Given the description of an element on the screen output the (x, y) to click on. 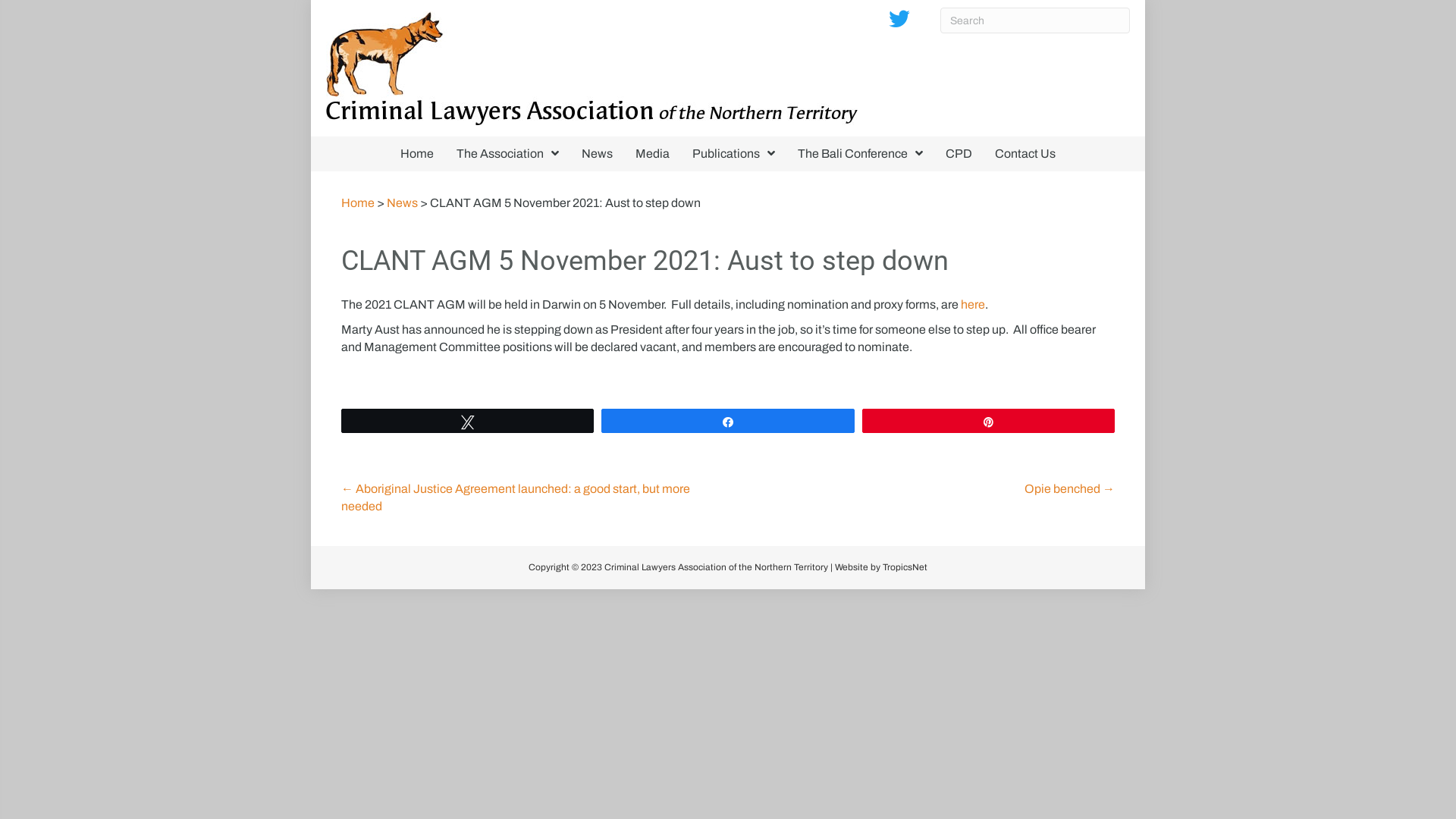
The Bali Conference Element type: text (860, 153)
Contact Us Element type: text (1024, 153)
Publications Element type: text (733, 153)
Media Element type: text (652, 153)
News Element type: text (401, 202)
here Element type: text (972, 304)
CPD Element type: text (958, 153)
Type and press Enter to search. Element type: hover (1034, 20)
Home Element type: text (357, 202)
logo Element type: hover (591, 68)
Home Element type: text (417, 153)
News Element type: text (597, 153)
The Association Element type: text (507, 153)
Website by TropicsNet Element type: text (880, 566)
